Given the description of an element on the screen output the (x, y) to click on. 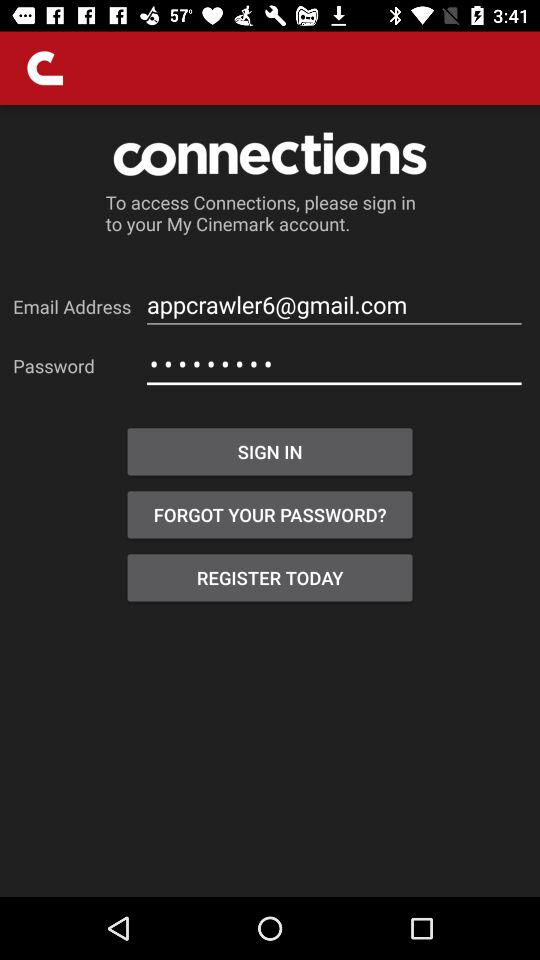
click icon above the crowd3116 (333, 304)
